Given the description of an element on the screen output the (x, y) to click on. 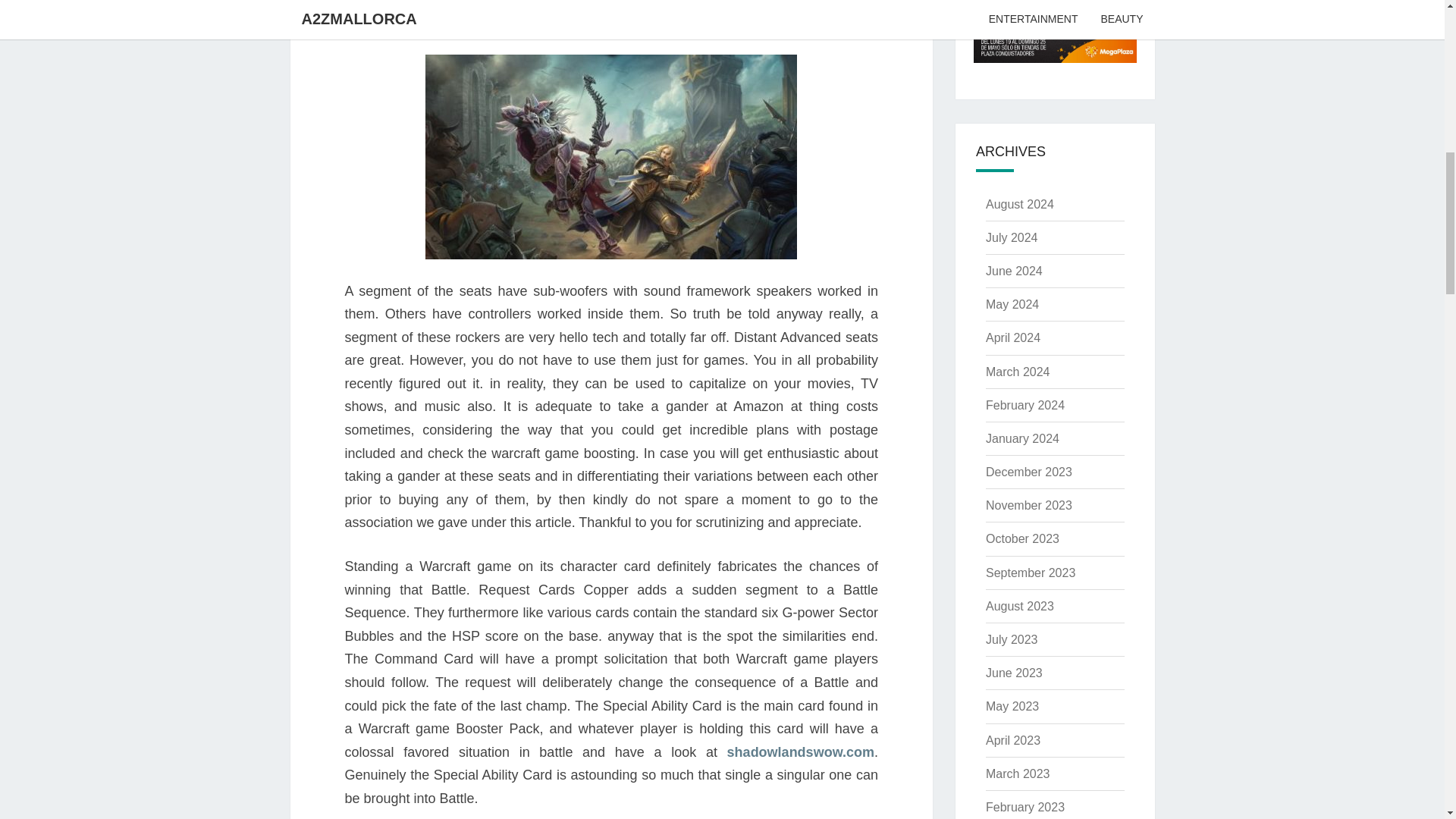
May 2023 (1012, 706)
April 2023 (1013, 739)
April 2024 (1013, 337)
February 2024 (1024, 404)
March 2024 (1017, 371)
June 2023 (1013, 672)
January 2024 (1022, 438)
July 2024 (1011, 237)
December 2023 (1028, 472)
June 2024 (1013, 270)
